Given the description of an element on the screen output the (x, y) to click on. 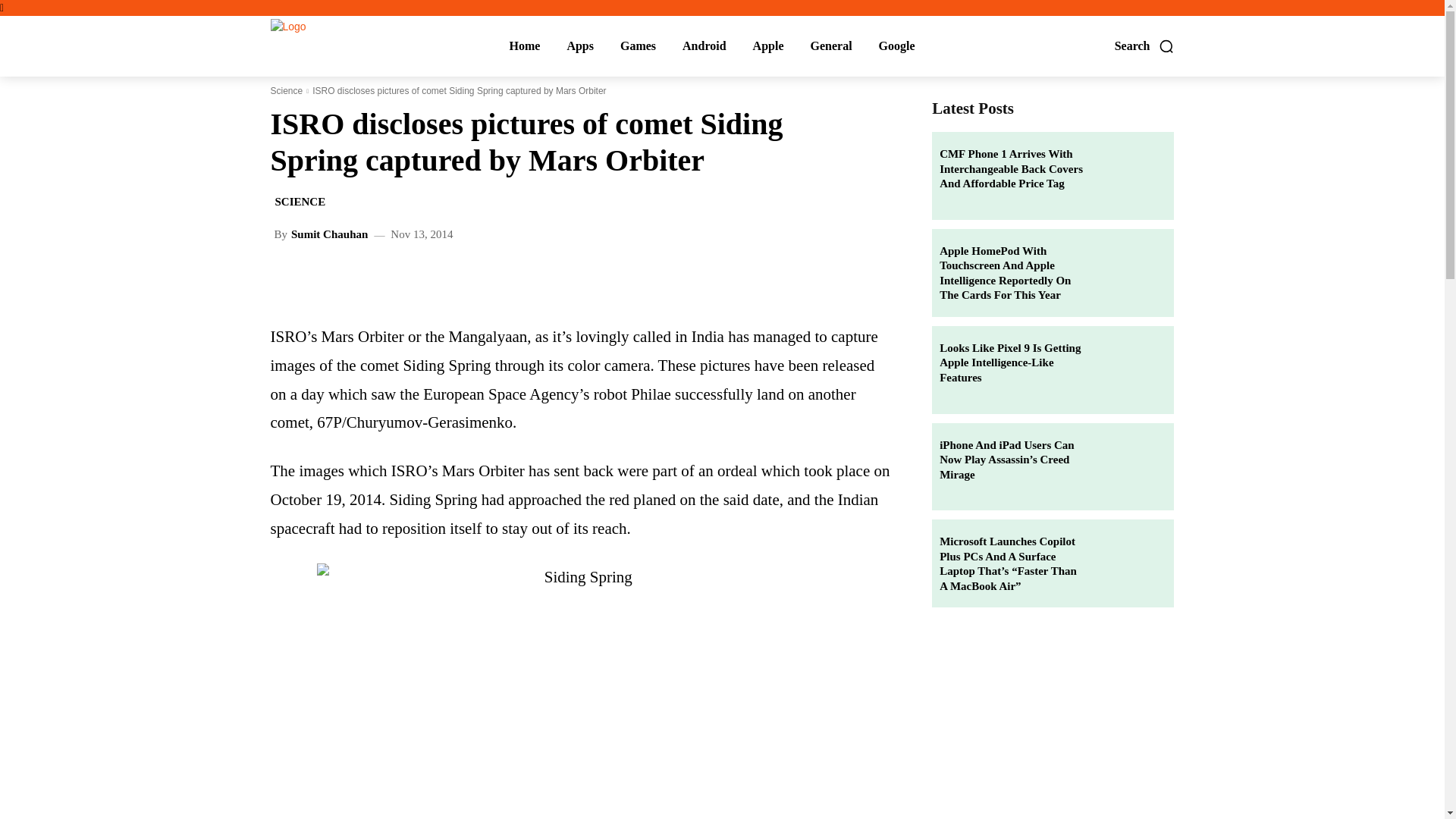
Games (637, 45)
Home (524, 45)
Google (896, 45)
View all posts in Science (285, 90)
General (831, 45)
Science (285, 90)
SCIENCE (299, 202)
Apps (579, 45)
Search (1144, 45)
Android (704, 45)
Apple (768, 45)
Sumit Chauhan (329, 234)
